Given the description of an element on the screen output the (x, y) to click on. 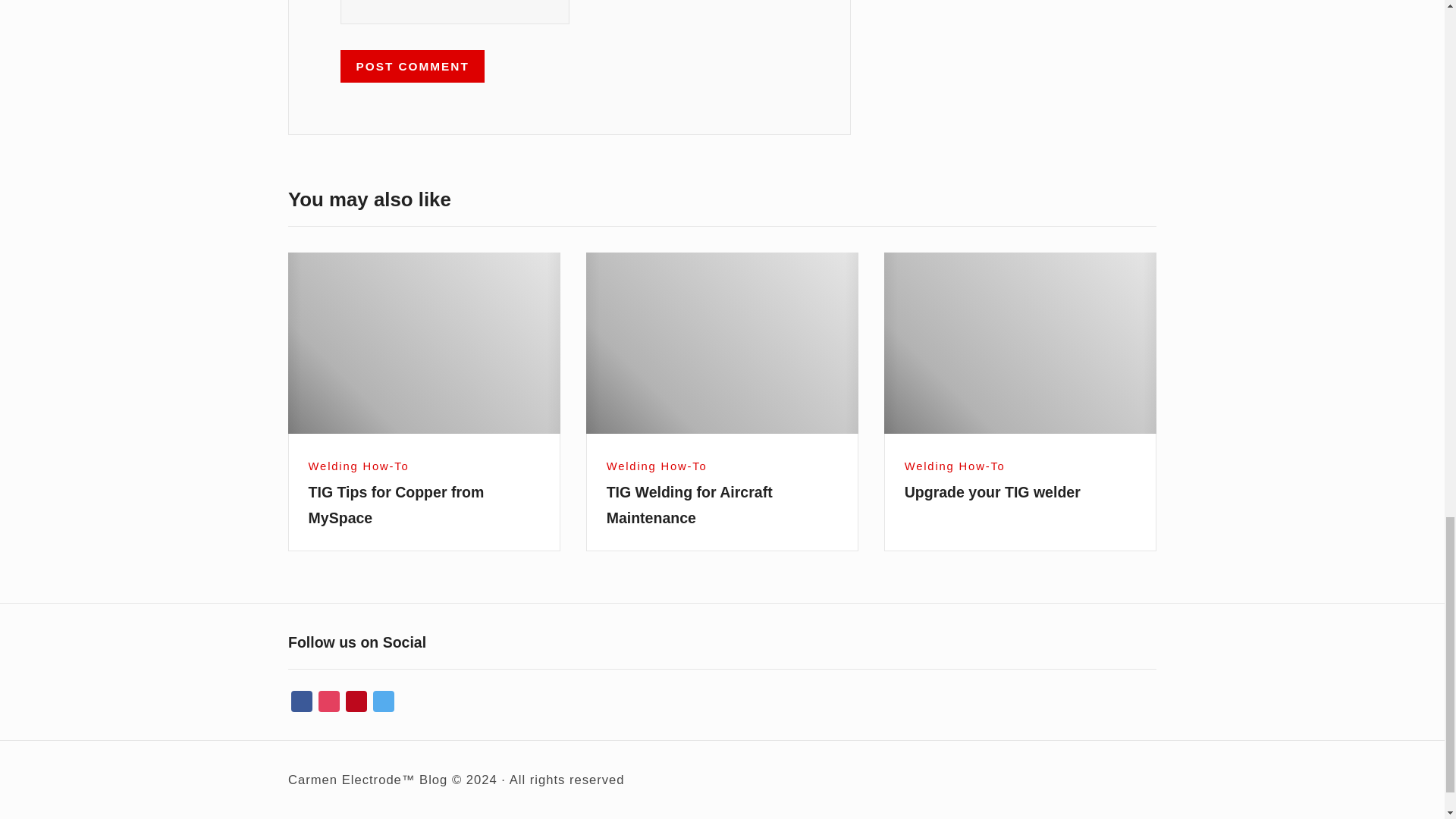
Facebook (301, 702)
Twitter (383, 702)
Pinterest (355, 702)
Post Comment (412, 65)
Instagram (328, 702)
